Given the description of an element on the screen output the (x, y) to click on. 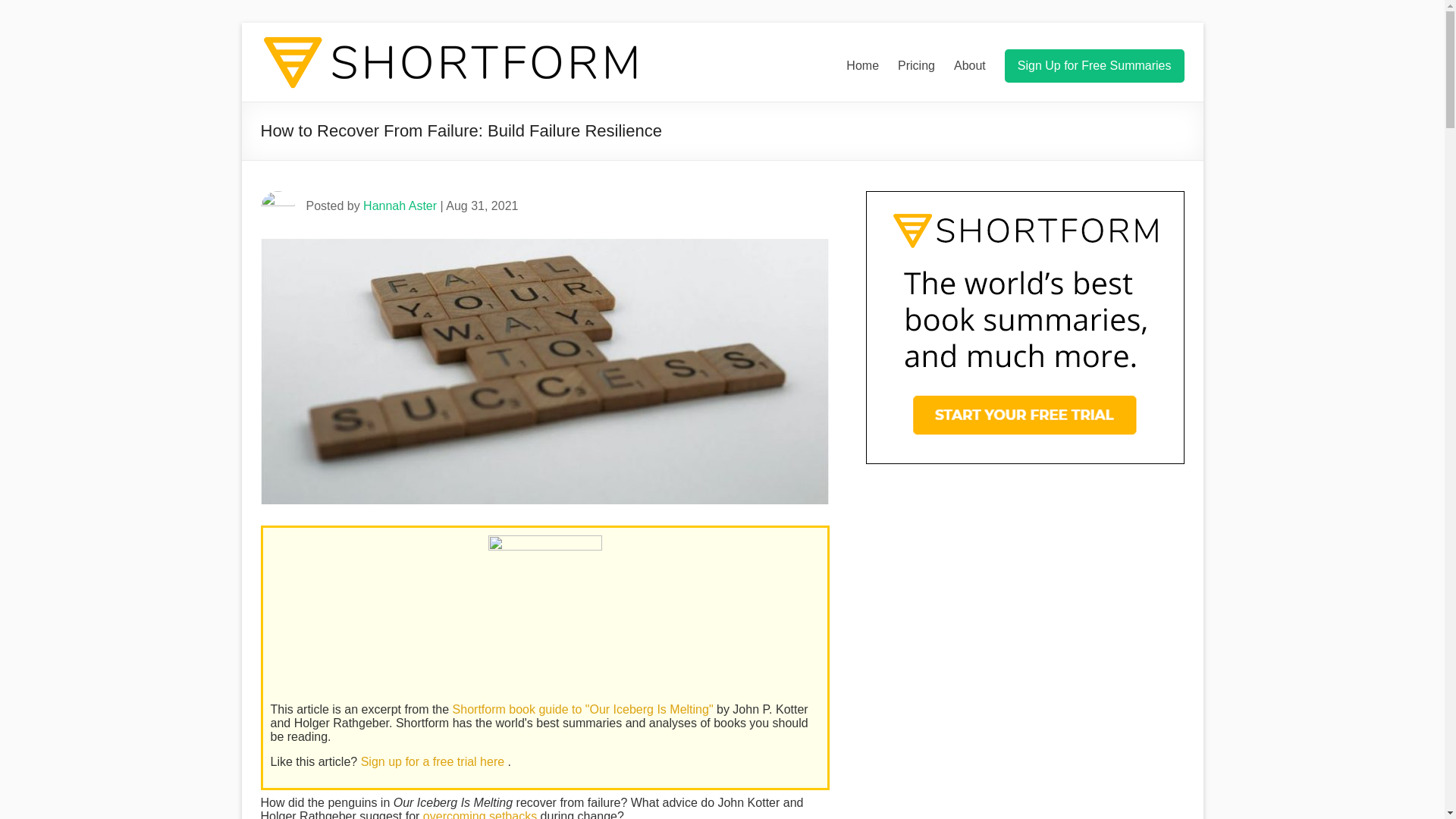
Sign Up for Free Summaries (1094, 65)
Hannah Aster (399, 205)
Sign up for a free trial here (434, 761)
Pricing (916, 65)
Home (862, 65)
Shortform book guide to "Our Iceberg Is Melting" (584, 708)
overcoming setbacks (480, 814)
About (969, 65)
